Given the description of an element on the screen output the (x, y) to click on. 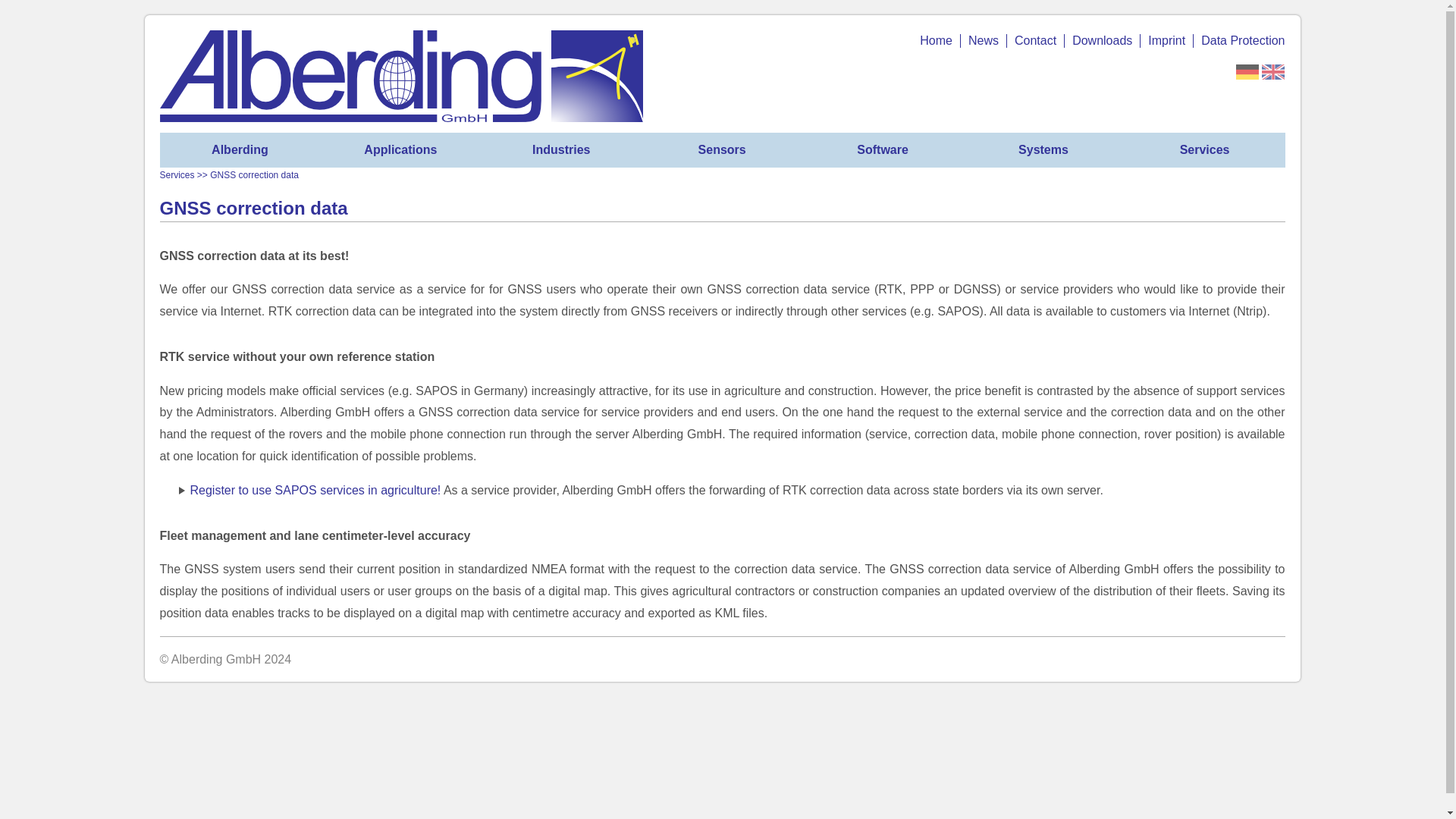
Home (935, 40)
Downloads (1102, 40)
News (983, 40)
Data Protection (1238, 40)
Software (882, 149)
Industries (561, 149)
Sensors (722, 149)
Contact (1035, 40)
Imprint (1166, 40)
Alberding (239, 149)
Applications (400, 149)
